Given the description of an element on the screen output the (x, y) to click on. 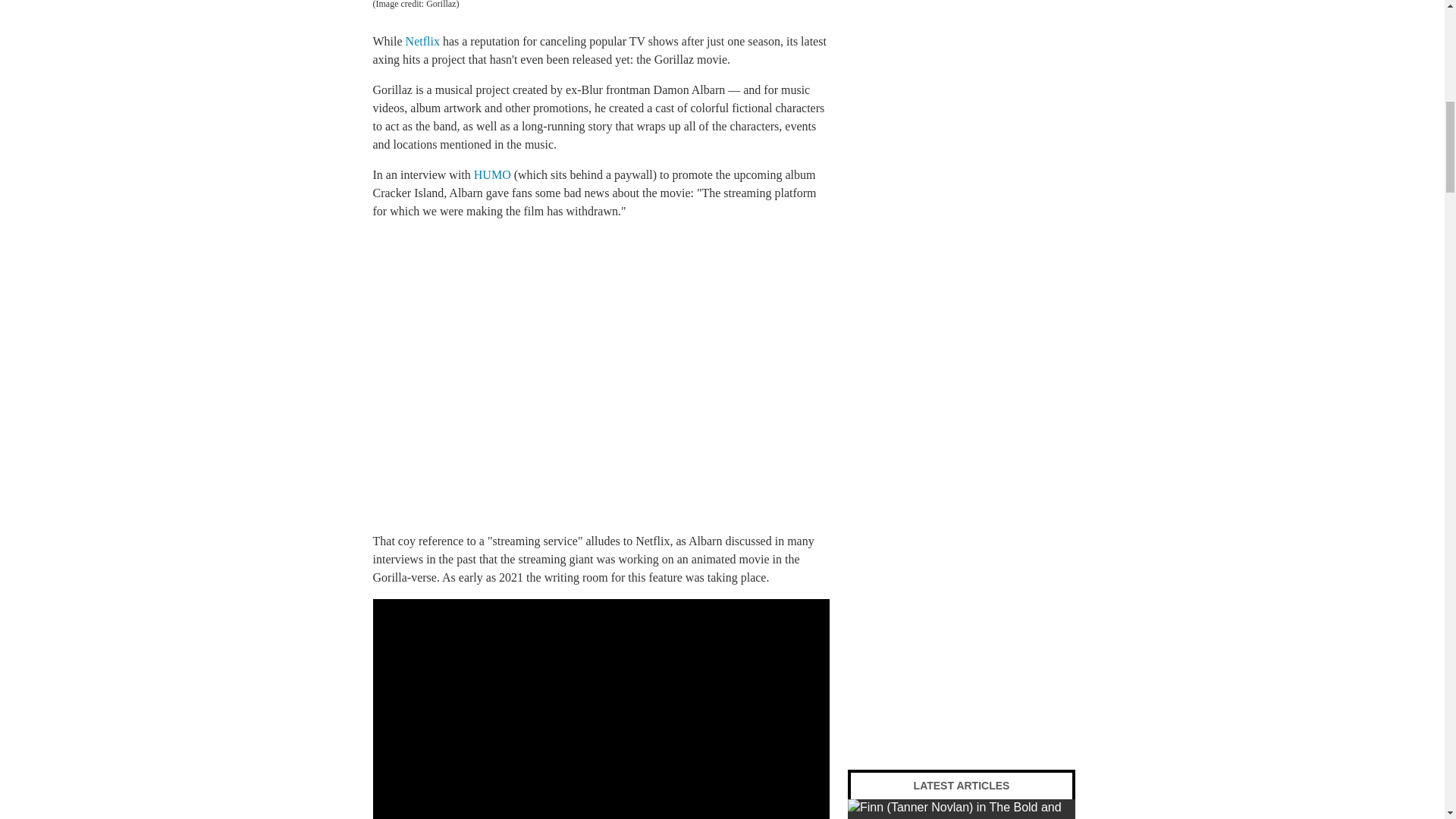
HUMO (492, 174)
Netflix (424, 41)
